Given the description of an element on the screen output the (x, y) to click on. 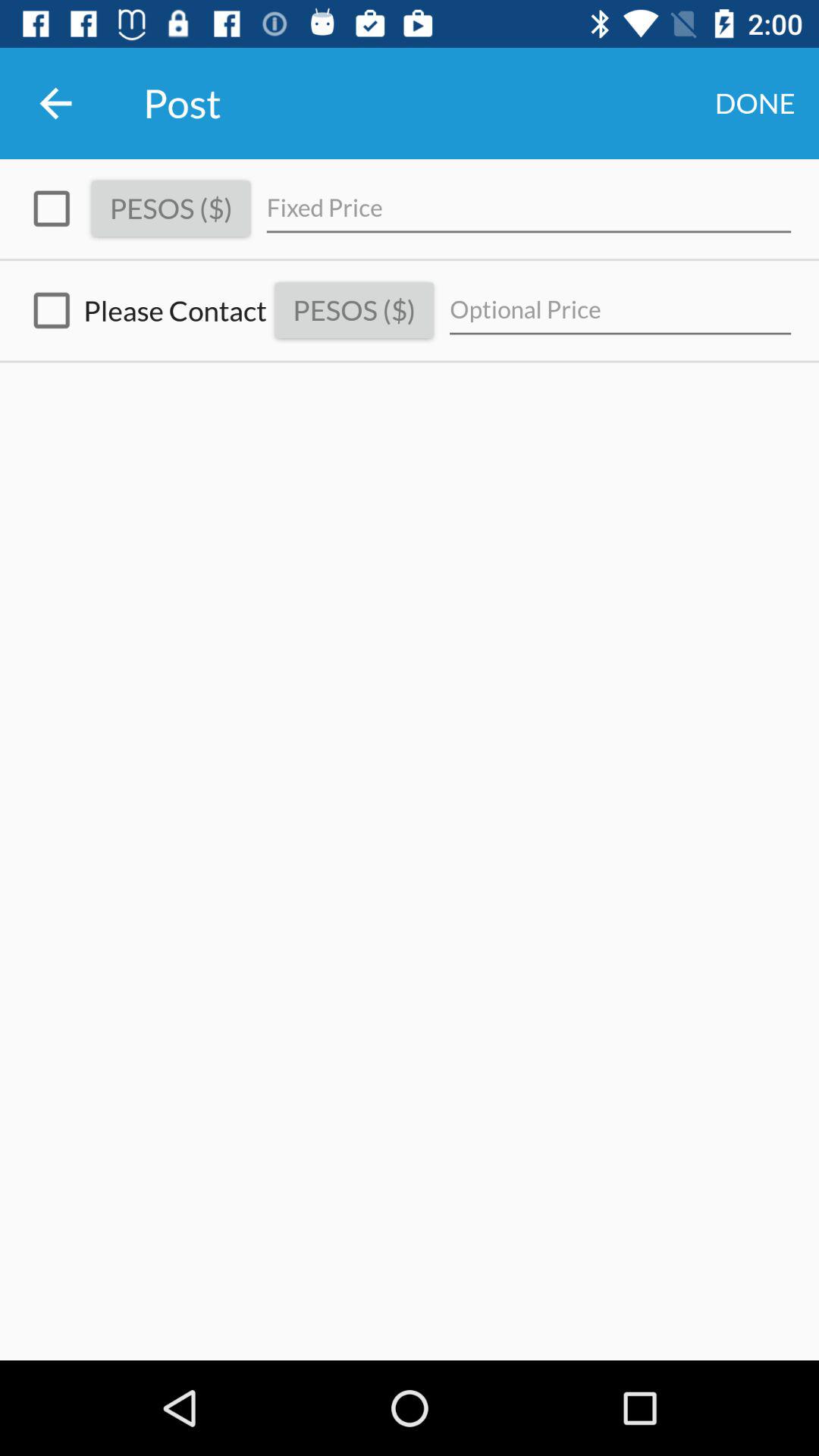
click the icon to the right of post icon (755, 103)
